Given the description of an element on the screen output the (x, y) to click on. 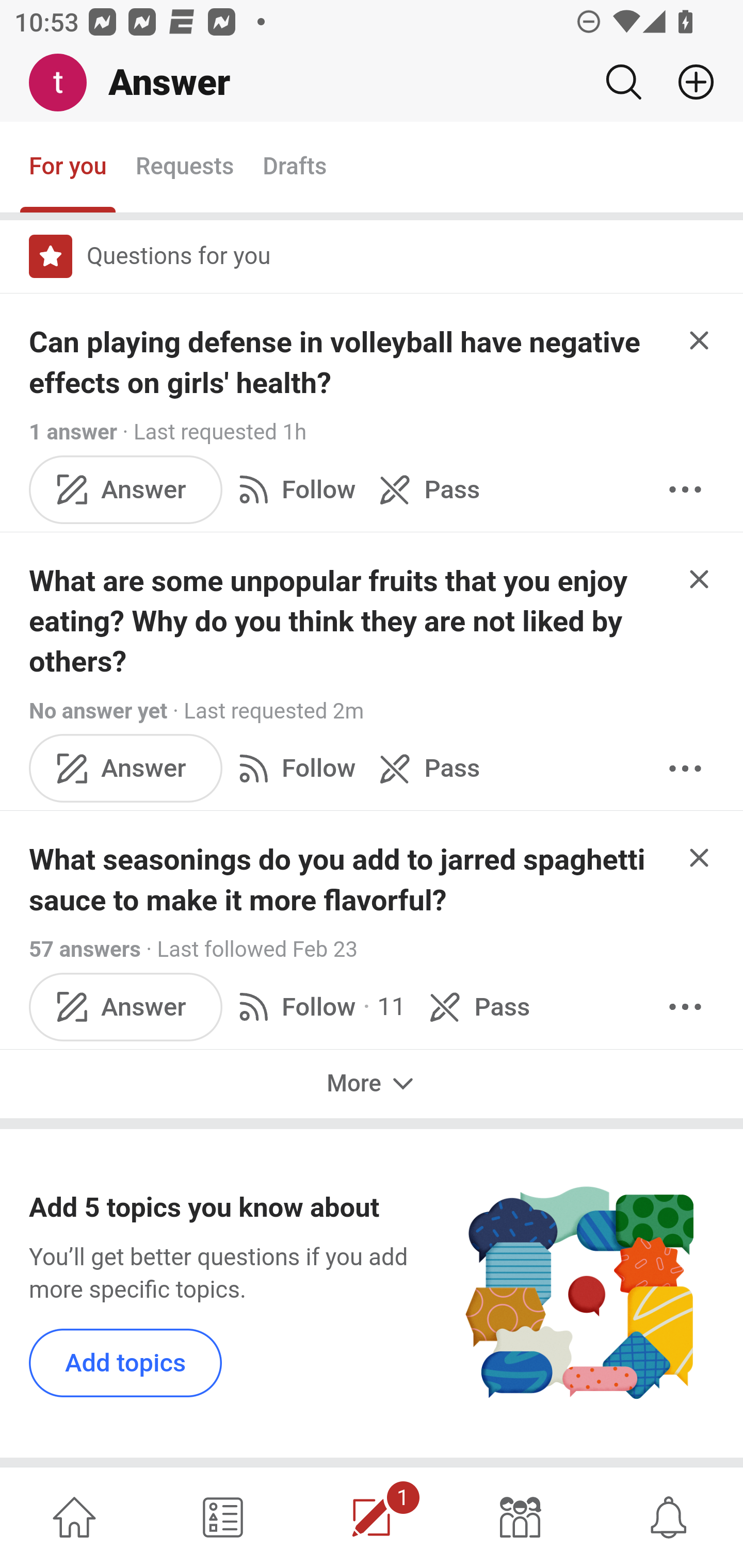
Me (64, 83)
Search (623, 82)
Add (688, 82)
For you (68, 167)
Requests (183, 167)
Drafts (295, 167)
Hide (699, 340)
1 answer 1  answer (73, 431)
Answer (125, 488)
Follow (293, 488)
Pass (425, 488)
More (684, 488)
Hide (699, 579)
No answer yet (97, 710)
Answer (125, 768)
Follow (293, 768)
Pass (425, 768)
More (684, 768)
Hide (699, 856)
57 answers 57  answers (84, 950)
Answer (125, 1007)
Follow · 11 (317, 1007)
Pass (476, 1007)
More (684, 1007)
More (371, 1083)
Add topics (125, 1362)
